Given the description of an element on the screen output the (x, y) to click on. 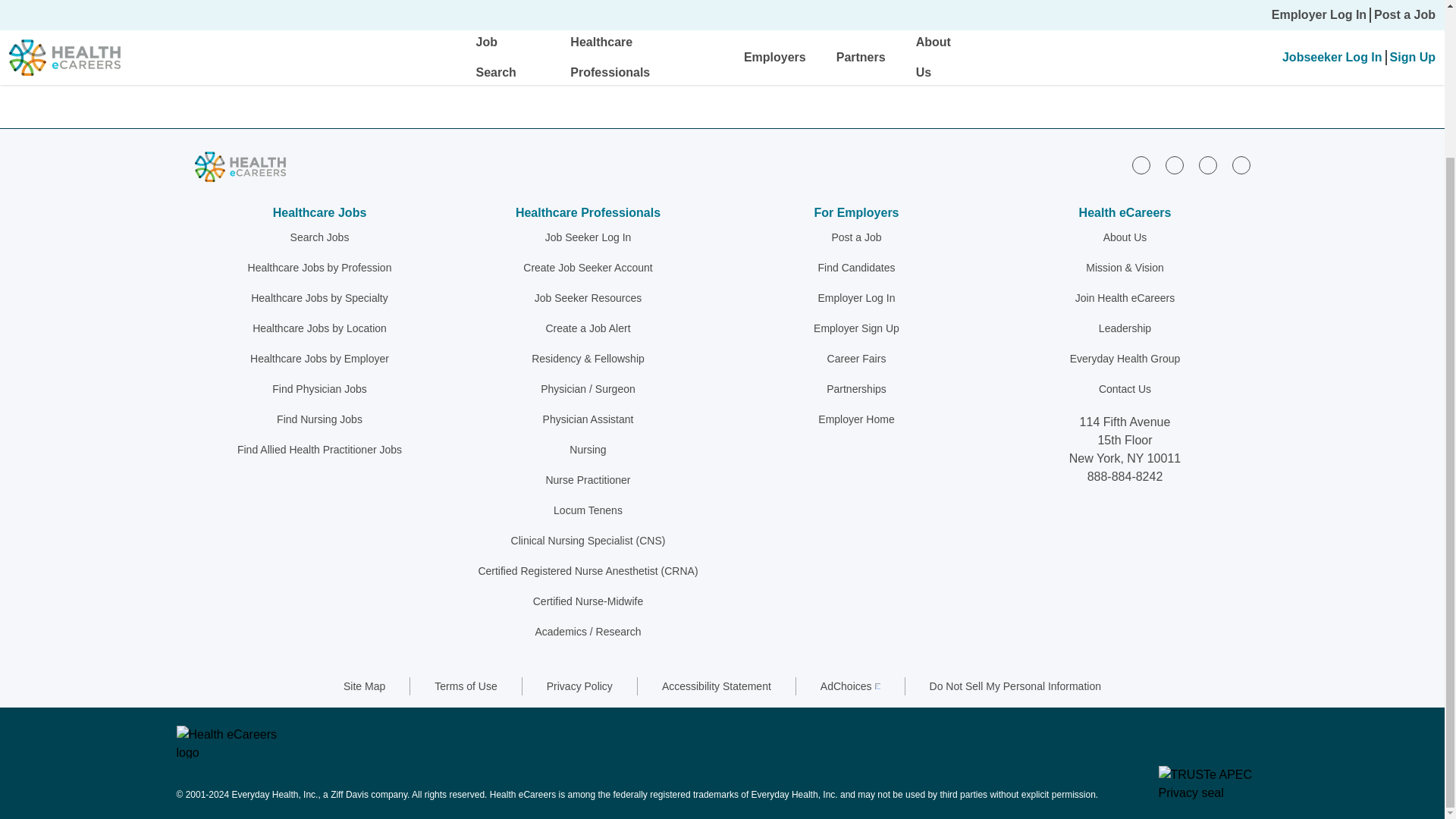
twitter (1206, 165)
facebook (1173, 165)
youtube (1240, 165)
linkedin (1140, 165)
